Given the description of an element on the screen output the (x, y) to click on. 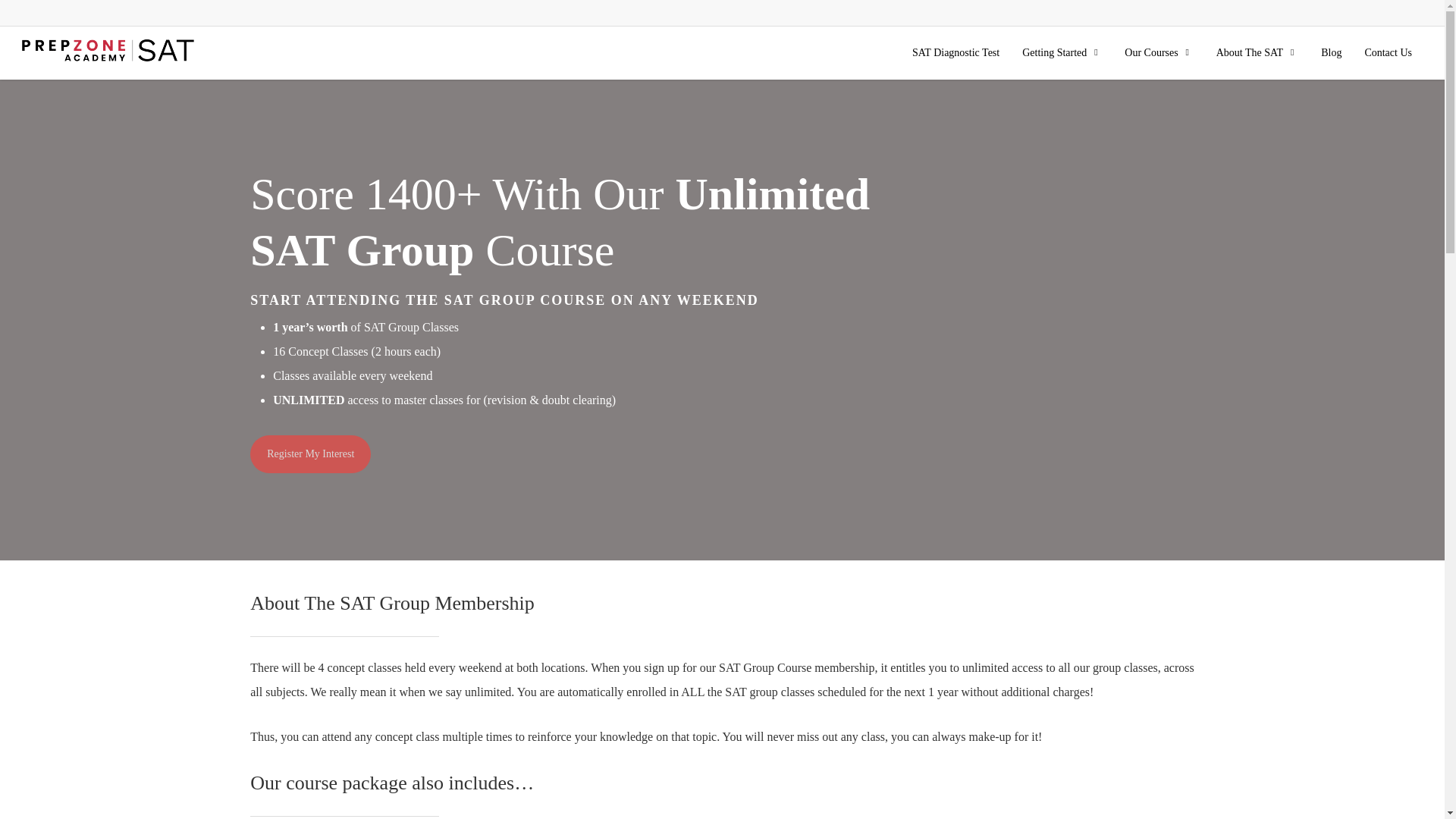
Getting Started (1061, 52)
Blog (1330, 52)
Contact Us (1387, 52)
SAT Diagnostic Test (955, 52)
About The SAT (1256, 52)
Register My Interest (310, 453)
Our Courses (1158, 52)
